Given the description of an element on the screen output the (x, y) to click on. 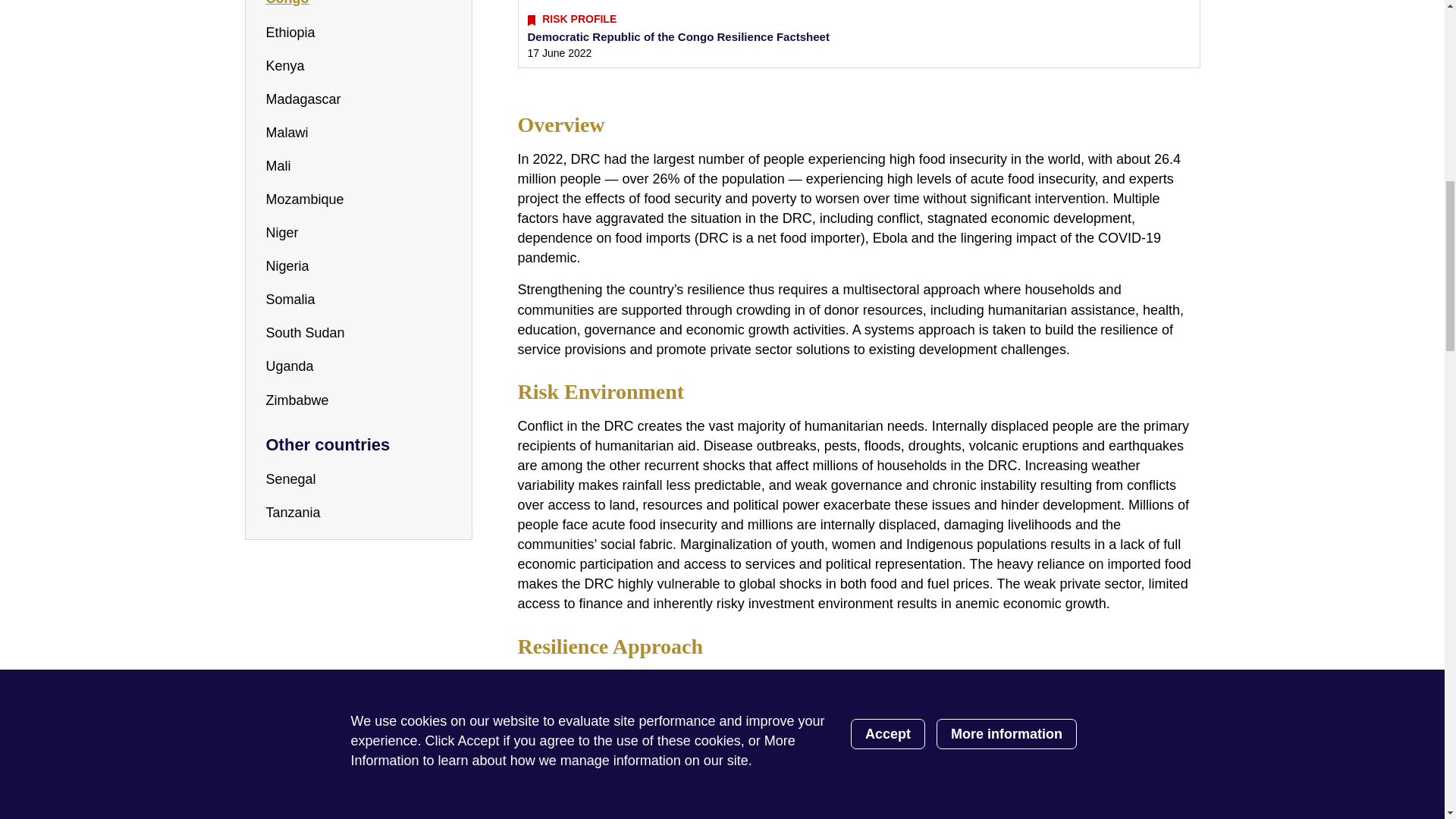
Democratic Republic of the Congo (353, 2)
